Given the description of an element on the screen output the (x, y) to click on. 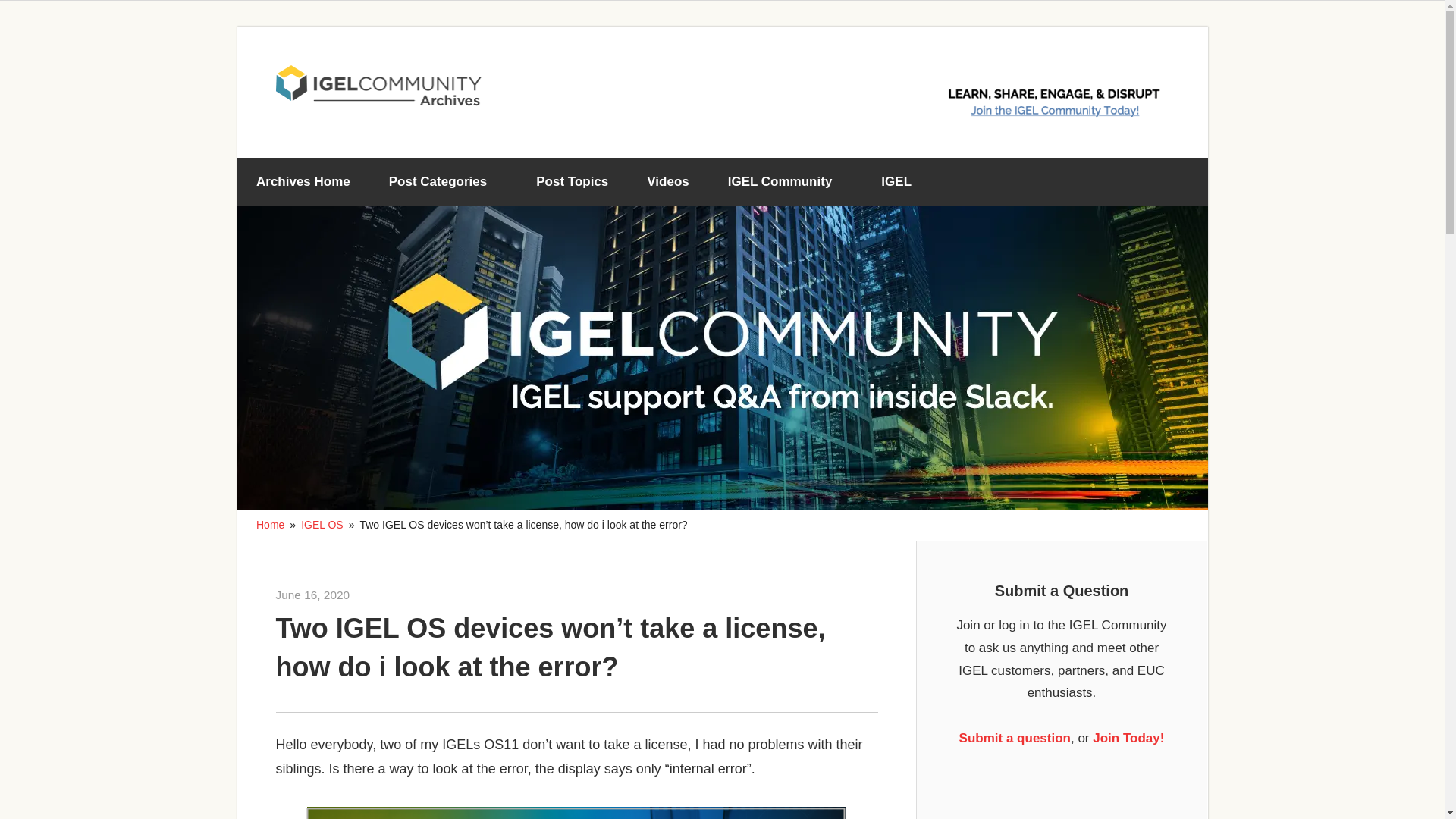
View all posts by IGEL Community Archives (411, 594)
10:11 am (313, 594)
IGEL OS (322, 524)
Videos (667, 182)
Archives Home (302, 182)
June 16, 2020 (313, 594)
IGEL (901, 182)
Post Categories (442, 182)
IGEL Community (784, 182)
